Given the description of an element on the screen output the (x, y) to click on. 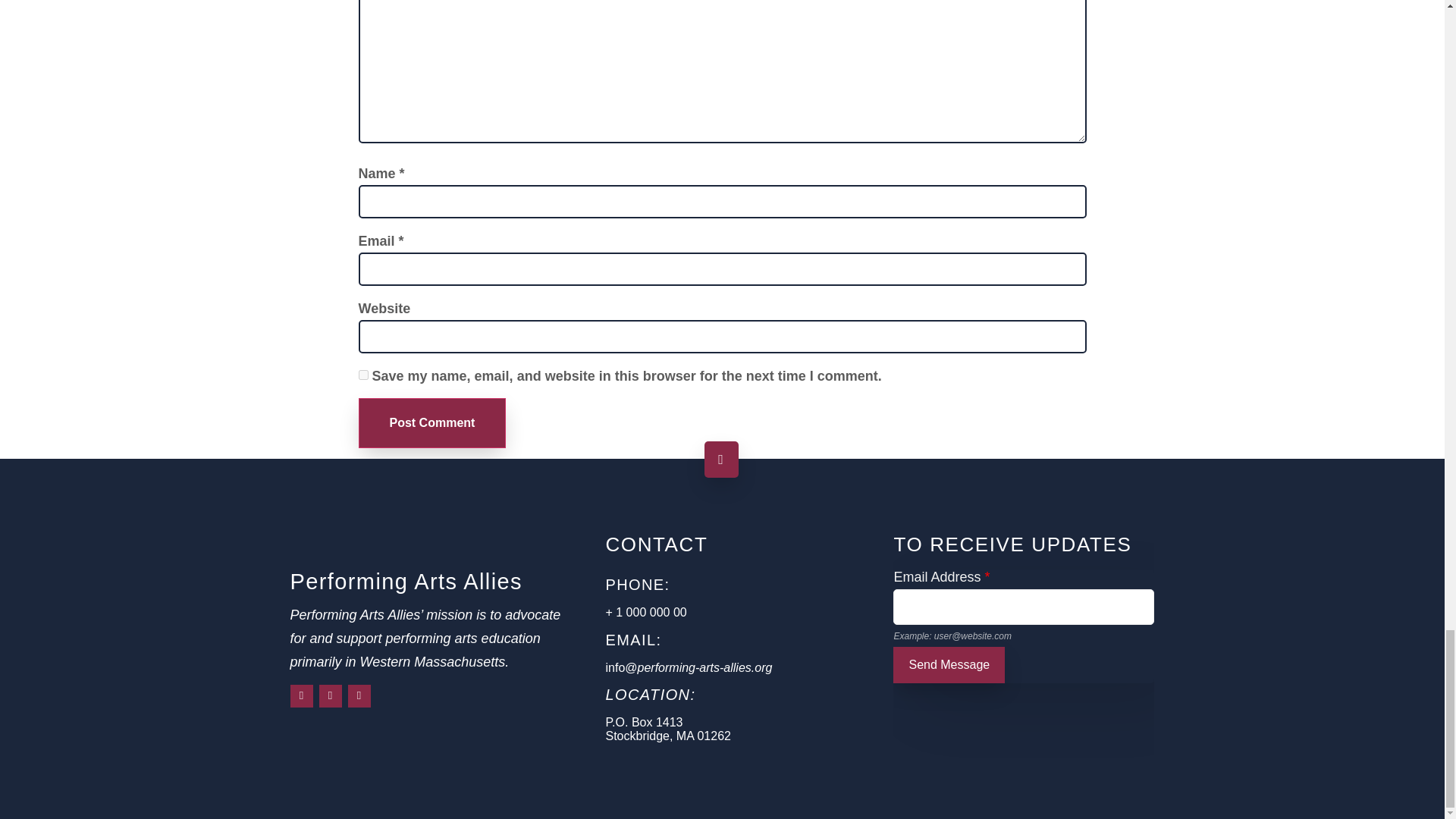
yes (363, 375)
Send Message (948, 665)
Post Comment (431, 422)
Post Comment (431, 422)
